Given the description of an element on the screen output the (x, y) to click on. 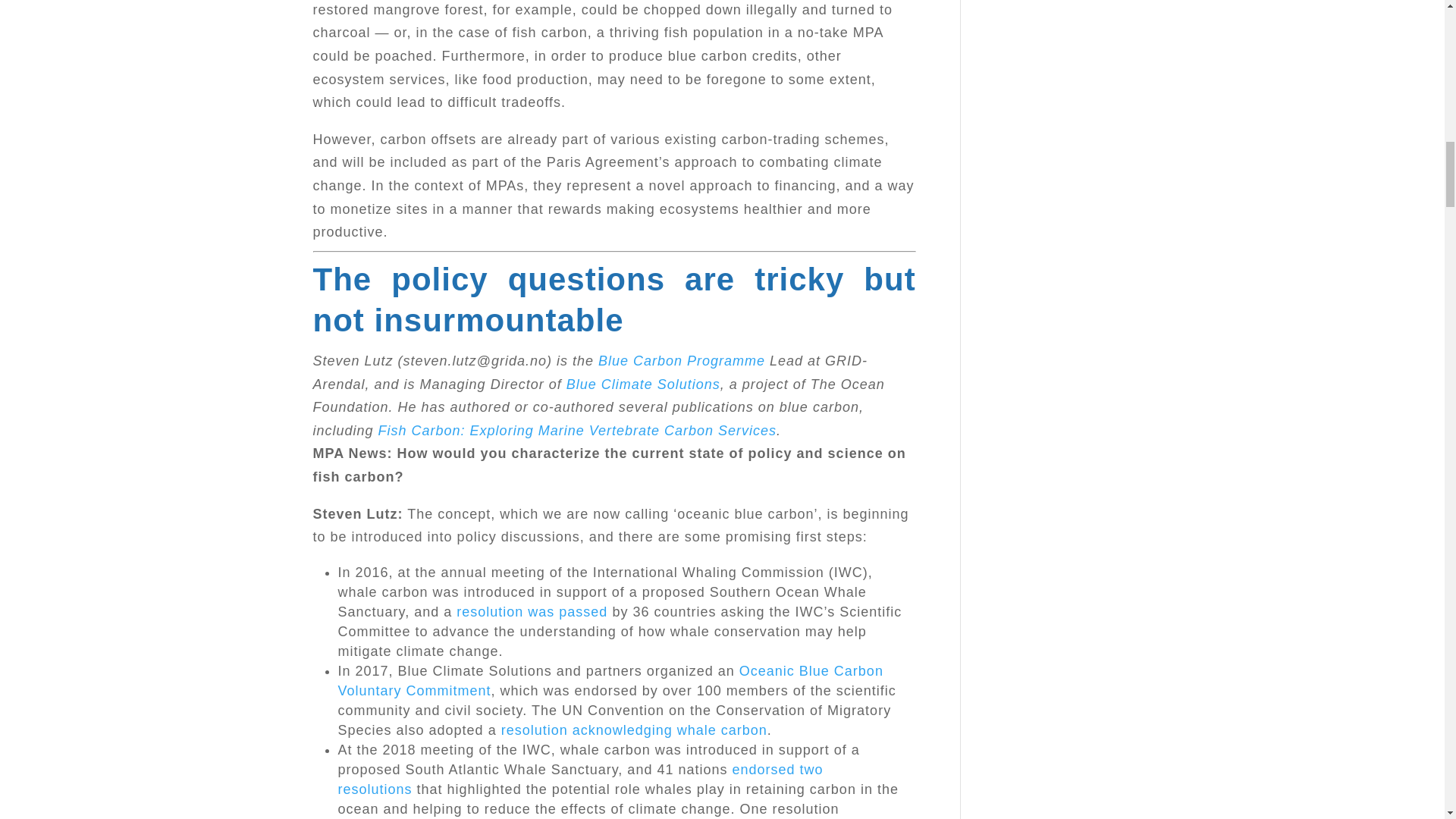
Fish Carbon: Exploring Marine Vertebrate Carbon Services (577, 430)
Blue Carbon Programme (681, 360)
endorsed two resolutions (580, 779)
resolution acknowledging whale carbon (633, 729)
Oceanic Blue Carbon Voluntary Commitment (610, 680)
resolution was passed (532, 611)
Blue Climate Solutions (643, 384)
